Given the description of an element on the screen output the (x, y) to click on. 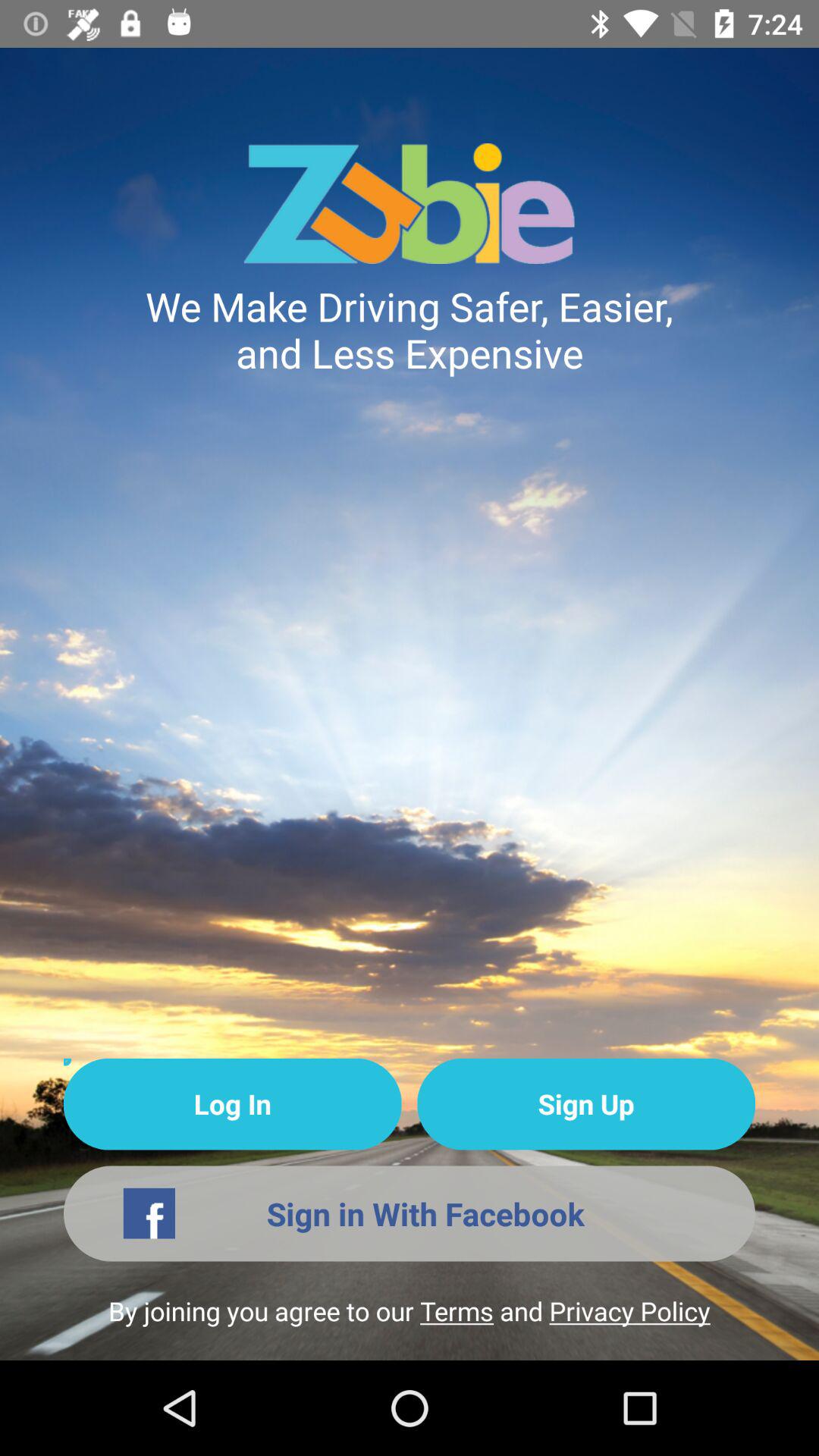
tap item at the bottom left corner (232, 1104)
